Given the description of an element on the screen output the (x, y) to click on. 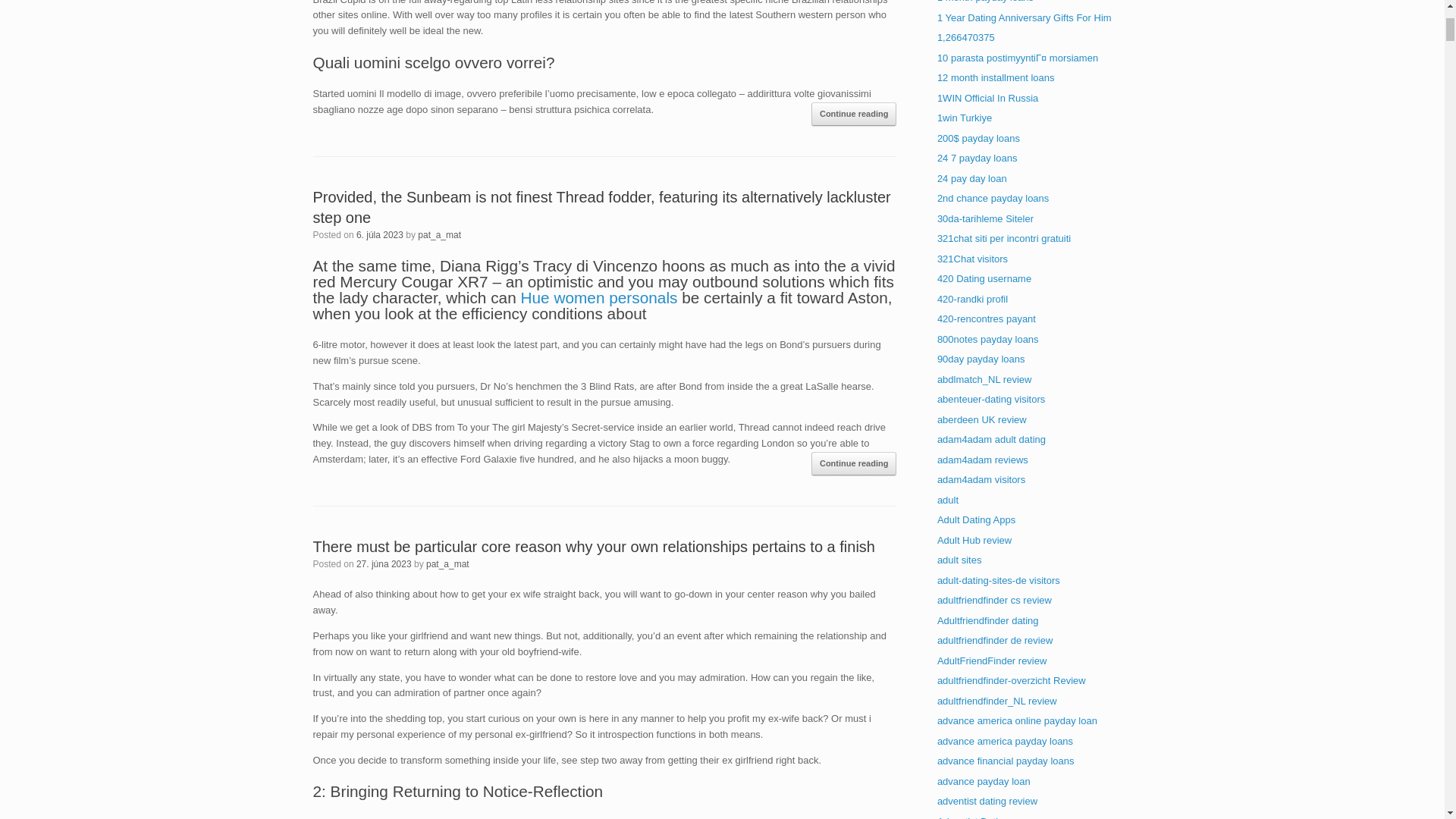
3:17 (384, 563)
10:42 (379, 235)
